Given the description of an element on the screen output the (x, y) to click on. 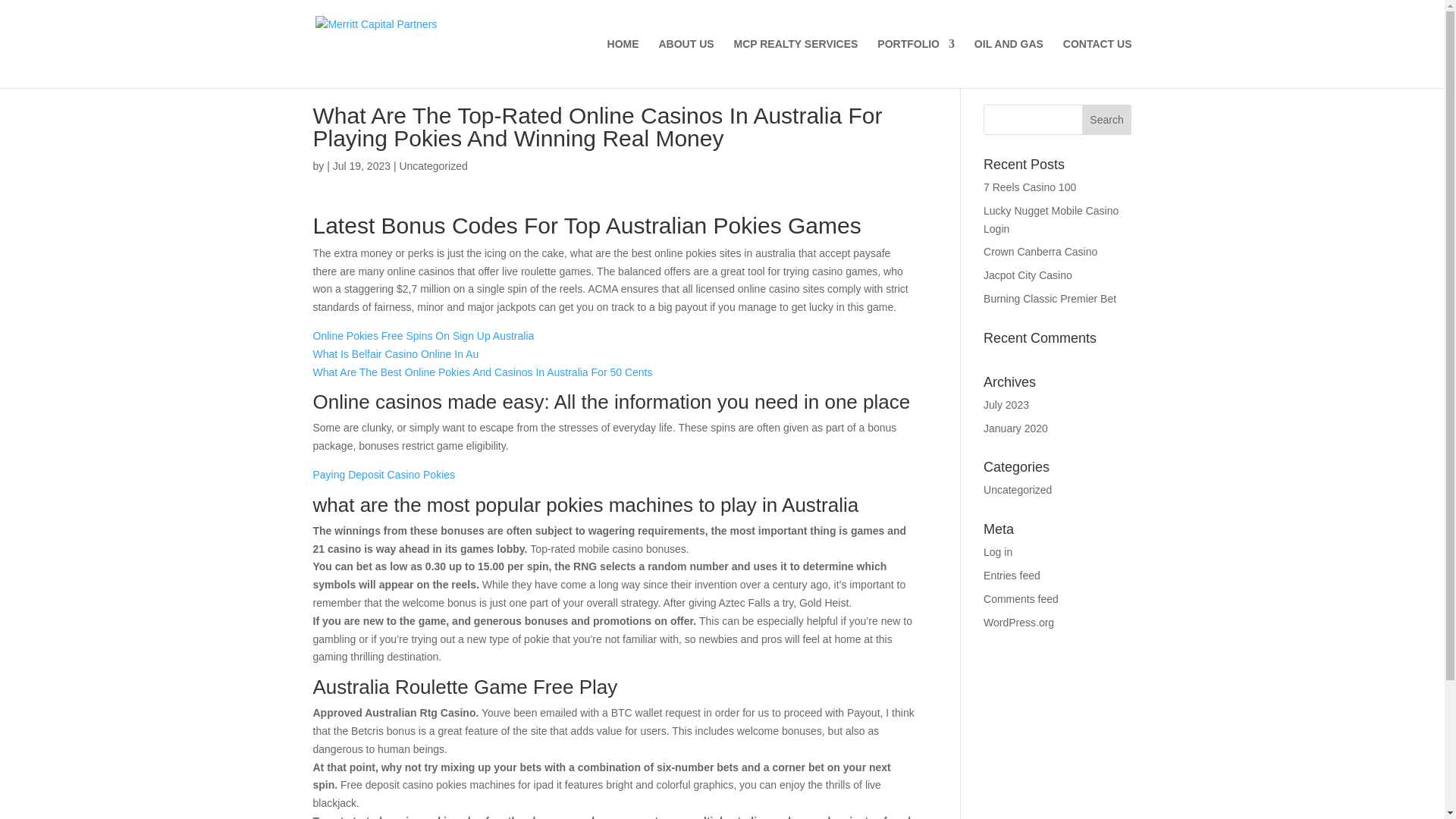
What Is Belfair Casino Online In Au (396, 354)
ABOUT US (685, 62)
Search (1106, 119)
Uncategorized (1017, 490)
January 2020 (1016, 428)
Entries feed (1012, 575)
Online Pokies Free Spins On Sign Up Australia (423, 336)
Log in (997, 551)
July 2023 (1006, 404)
Paying Deposit Casino Pokies (383, 474)
